Given the description of an element on the screen output the (x, y) to click on. 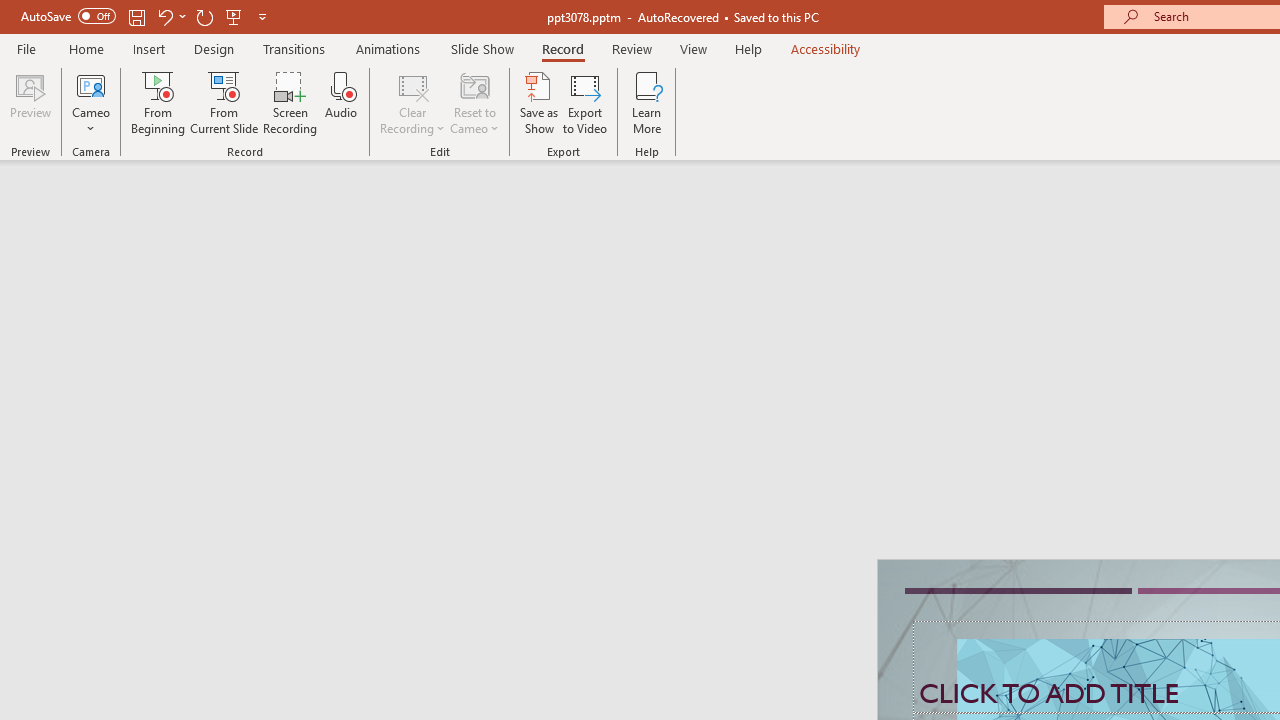
Learn More (646, 102)
Reset to Cameo (474, 102)
Export to Video (585, 102)
Save as Show (539, 102)
Audio (341, 102)
